Given the description of an element on the screen output the (x, y) to click on. 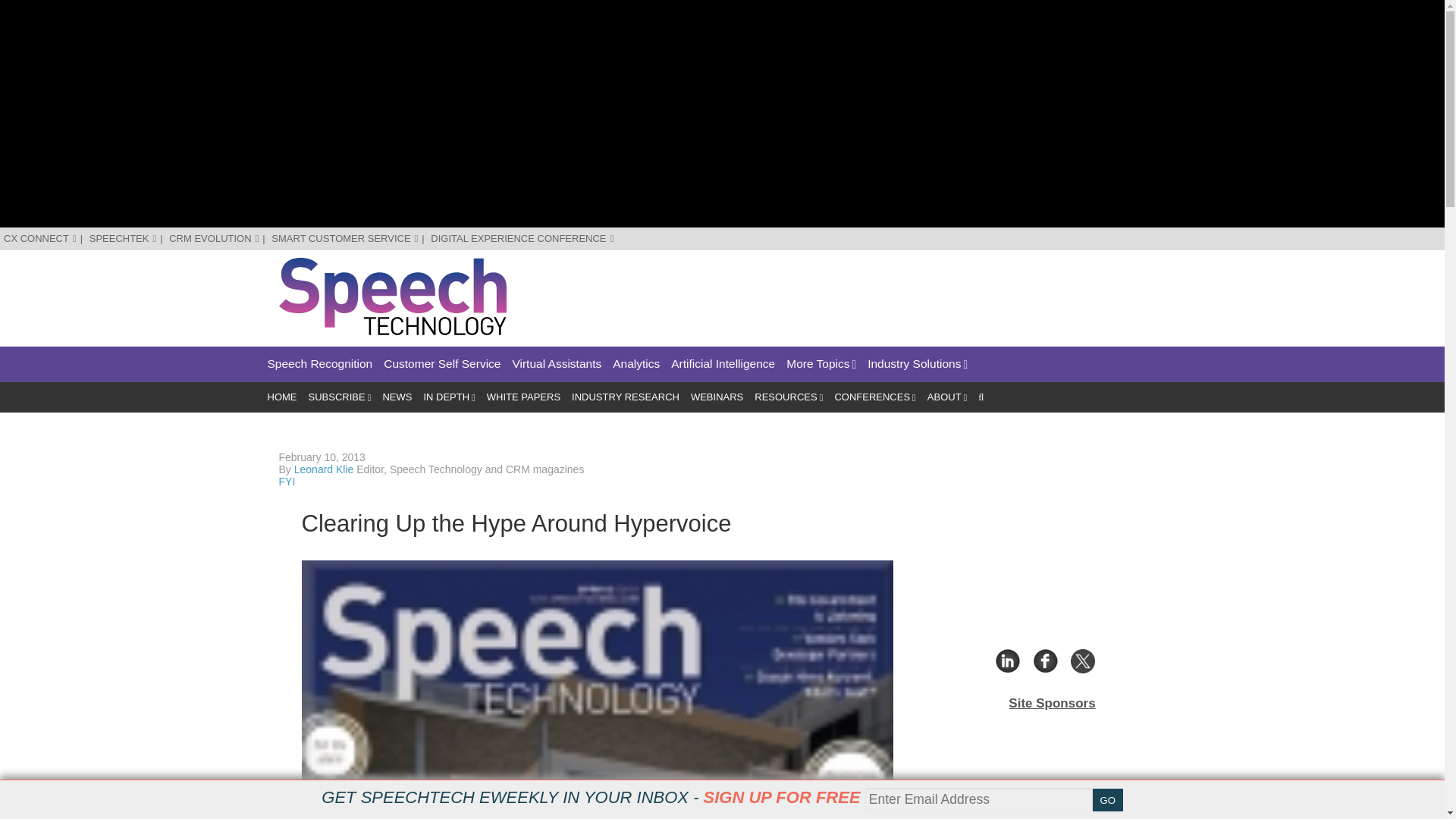
Virtual Assistants (556, 364)
Customer Self Service (442, 364)
Speech Recognition (319, 364)
GET SPEECHTECH EWEEKLY IN YOUR INBOX - SIGN UP FOR FREE (590, 797)
Analytics (635, 364)
CX CONNECT (40, 238)
Artificial Intelligence (722, 364)
DIGITAL EXPERIENCE CONFERENCE (521, 238)
Artificial Intelligence (722, 364)
